Given the description of an element on the screen output the (x, y) to click on. 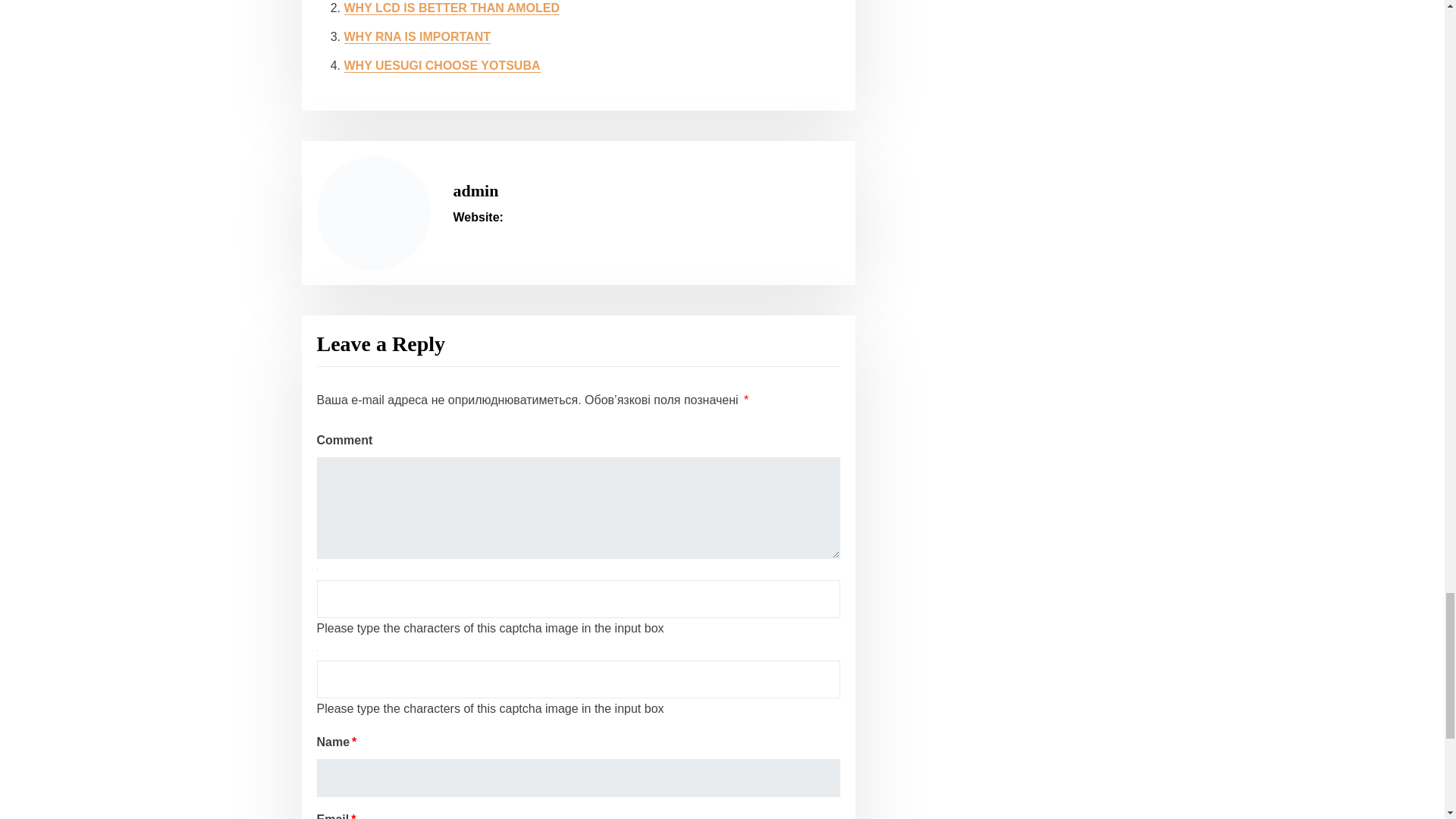
WHY LCD IS BETTER THAN AMOLED (451, 7)
WHY RNA IS IMPORTANT (416, 36)
WHY UESUGI CHOOSE YOTSUBA (441, 65)
WHY UESUGI CHOOSE YOTSUBA (441, 65)
WHY RNA IS IMPORTANT (416, 36)
WHY LCD IS BETTER THAN AMOLED (451, 7)
